Given the description of an element on the screen output the (x, y) to click on. 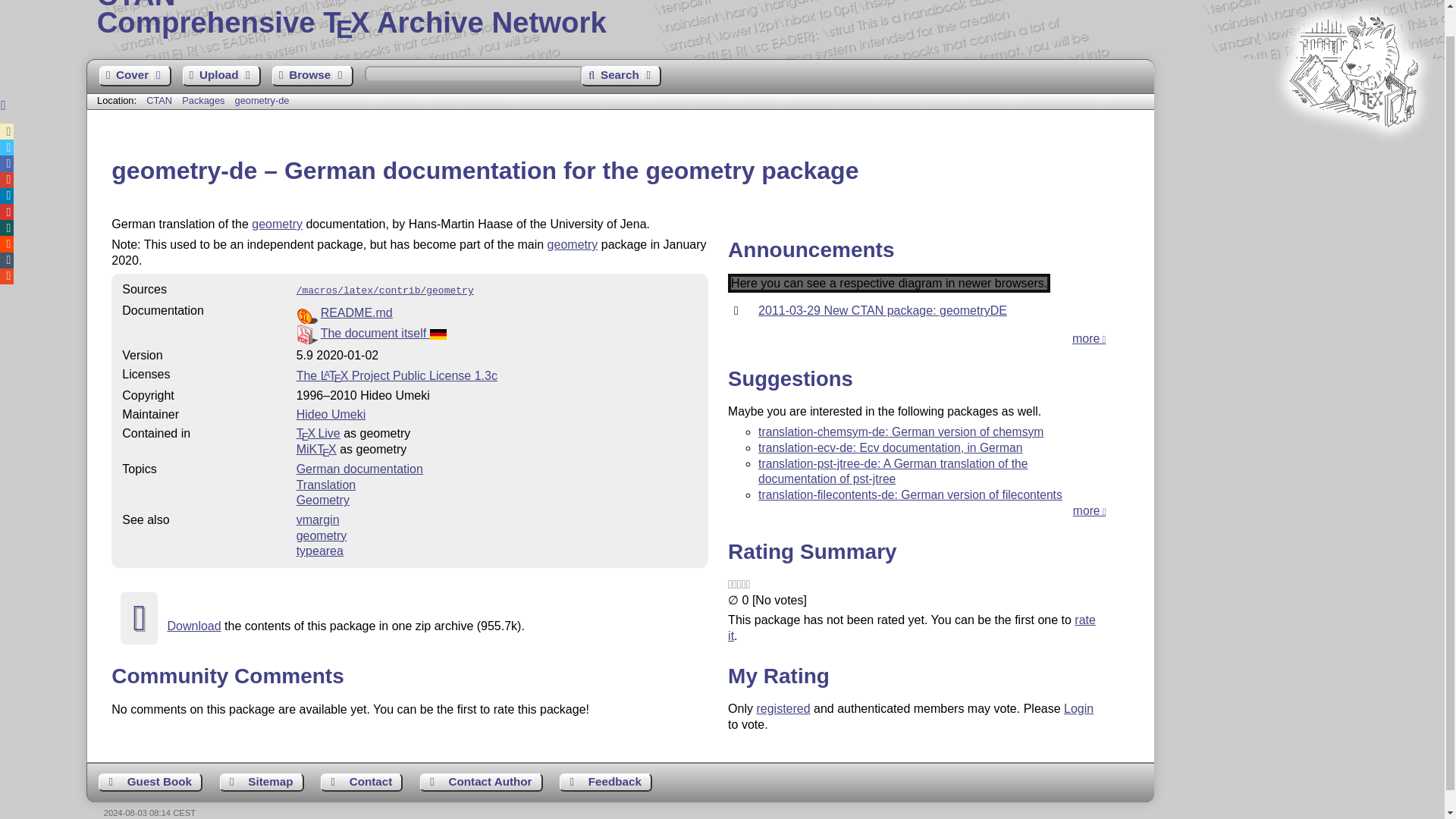
Portable Document Format (497, 333)
Browse (765, 18)
Leave some words for other visitors (312, 76)
The document itself (150, 782)
CTAN (383, 332)
README.md (159, 100)
Send feedback on the current web page to the Web masters (356, 312)
geometry (605, 782)
